Given the description of an element on the screen output the (x, y) to click on. 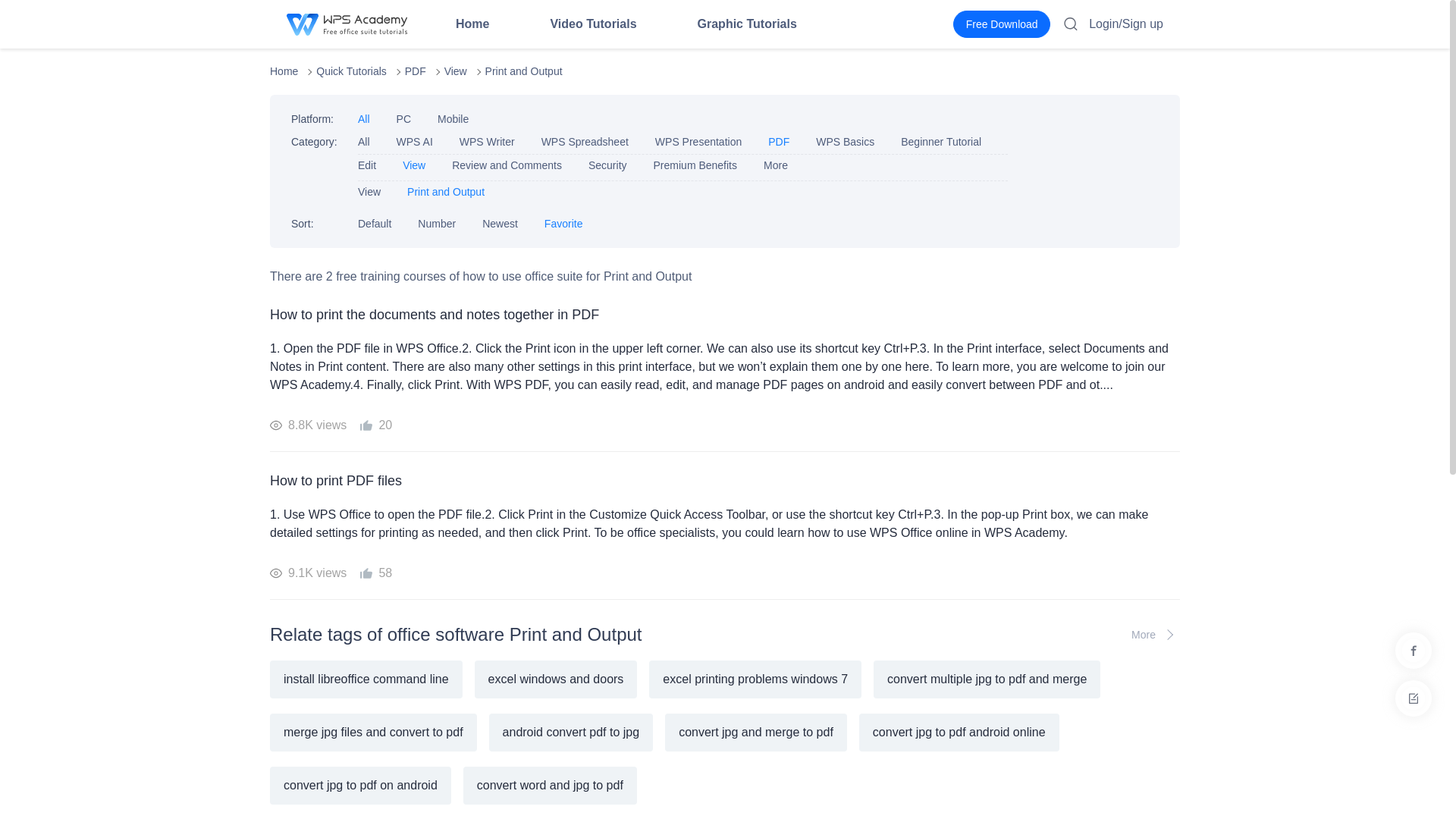
Video Tutorials (592, 24)
Home (472, 24)
Video Tutorials (592, 24)
Home (472, 24)
Graphic Tutorials (746, 24)
